Given the description of an element on the screen output the (x, y) to click on. 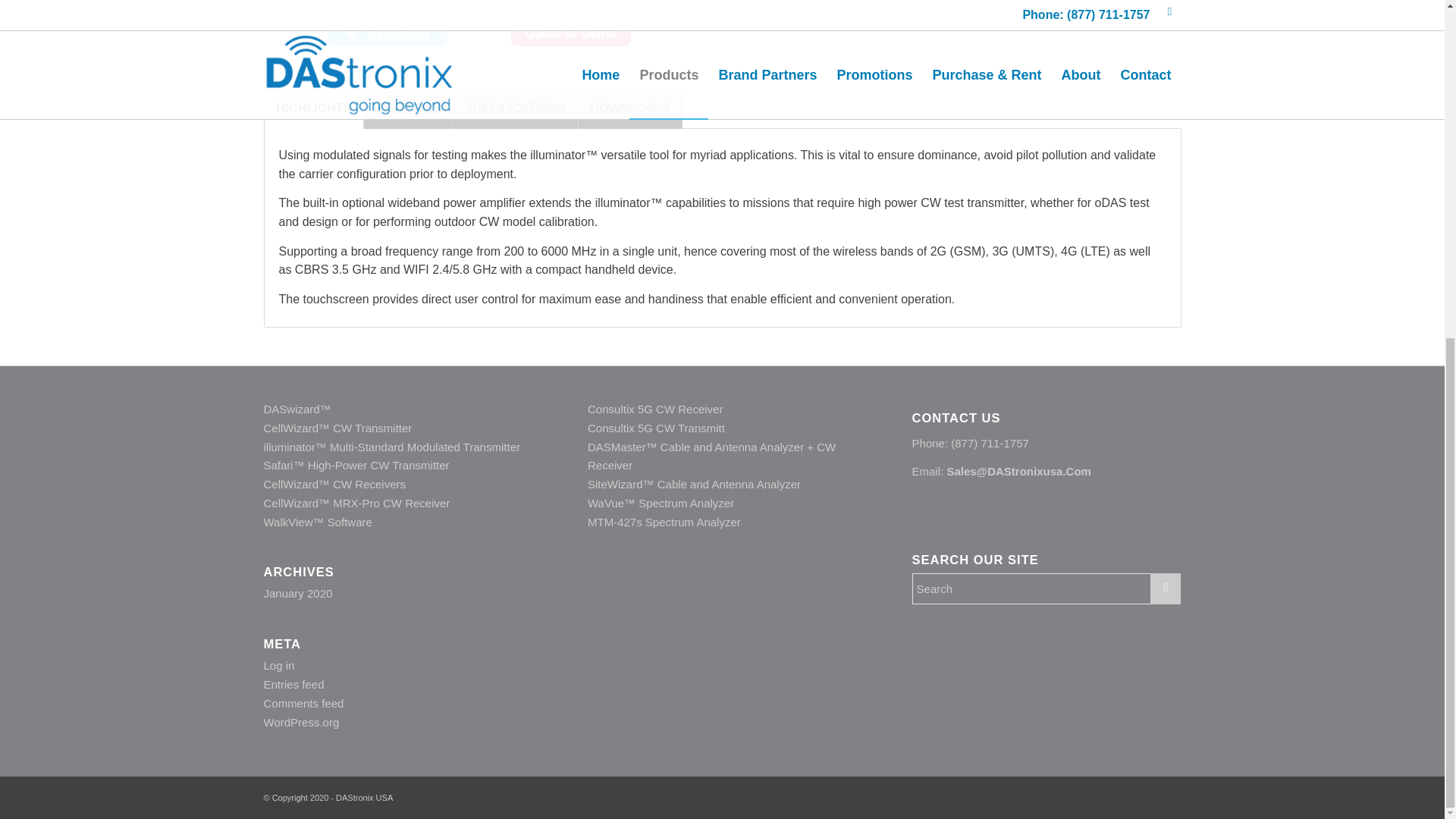
button-quote (570, 25)
button-datasheet (387, 25)
